Given the description of an element on the screen output the (x, y) to click on. 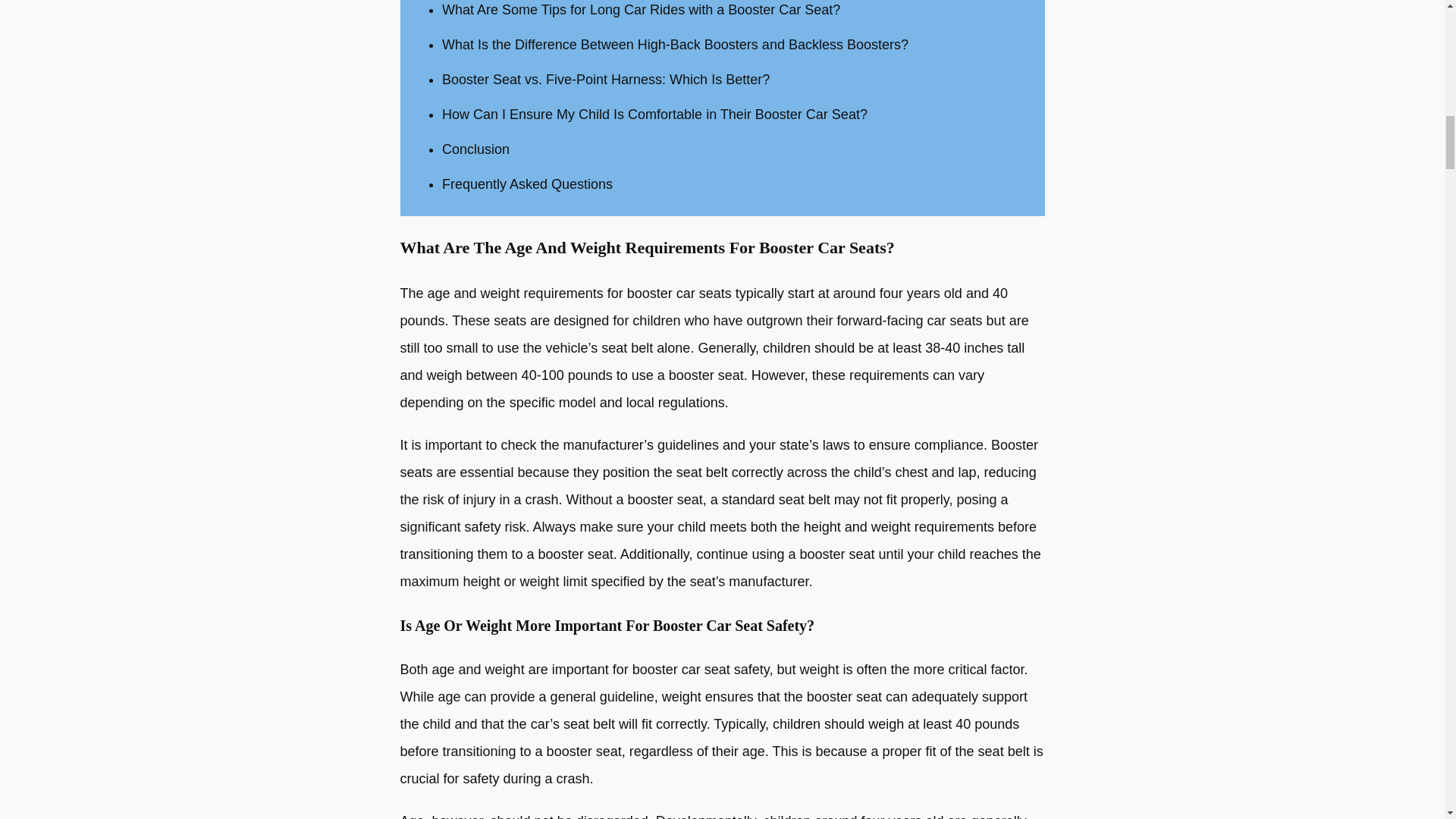
Conclusion (475, 149)
Booster Seat vs. Five-Point Harness: Which Is Better? (606, 79)
Frequently Asked Questions (527, 183)
